Given the description of an element on the screen output the (x, y) to click on. 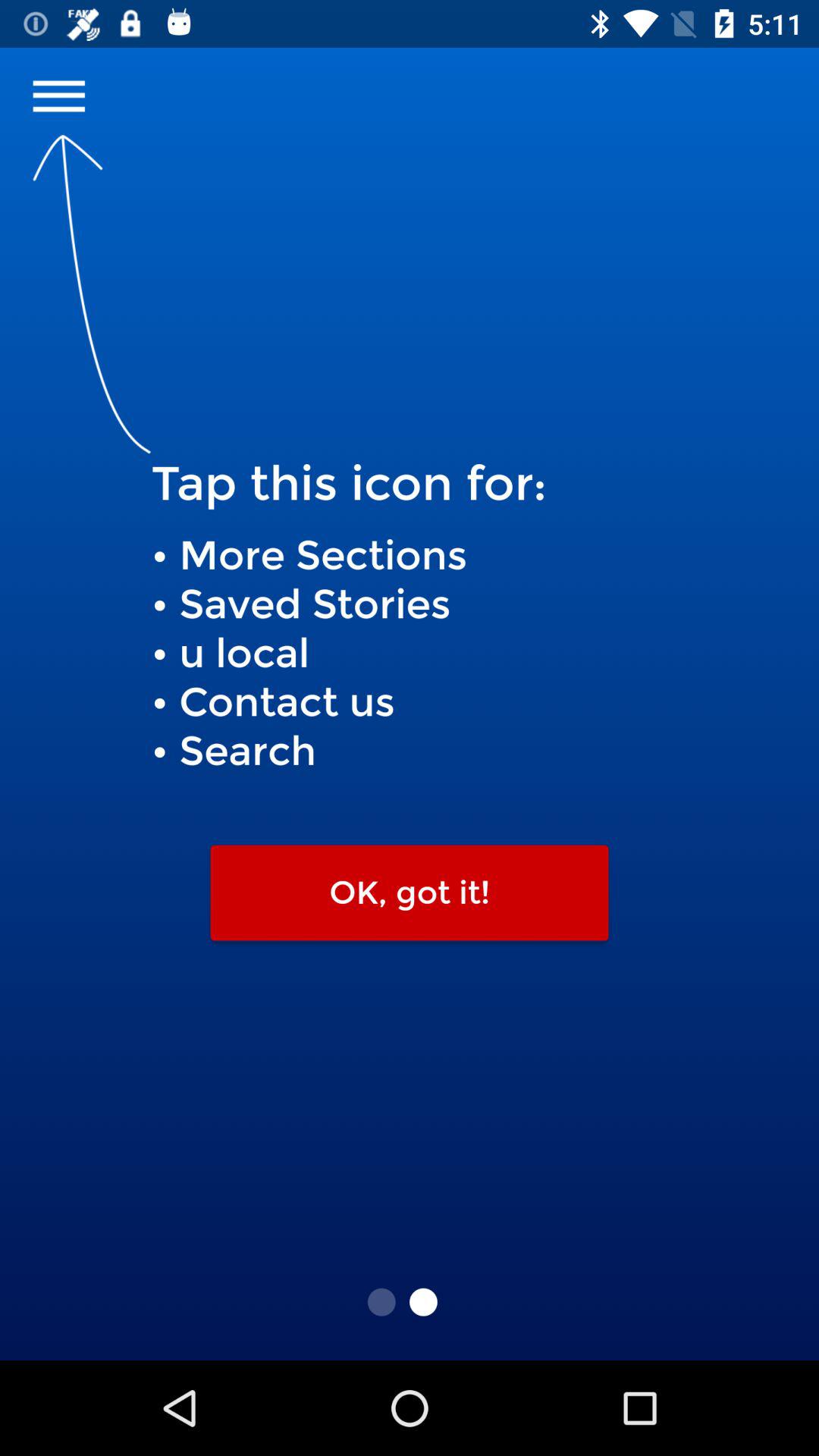
turn on the ok, got it! (409, 892)
